Given the description of an element on the screen output the (x, y) to click on. 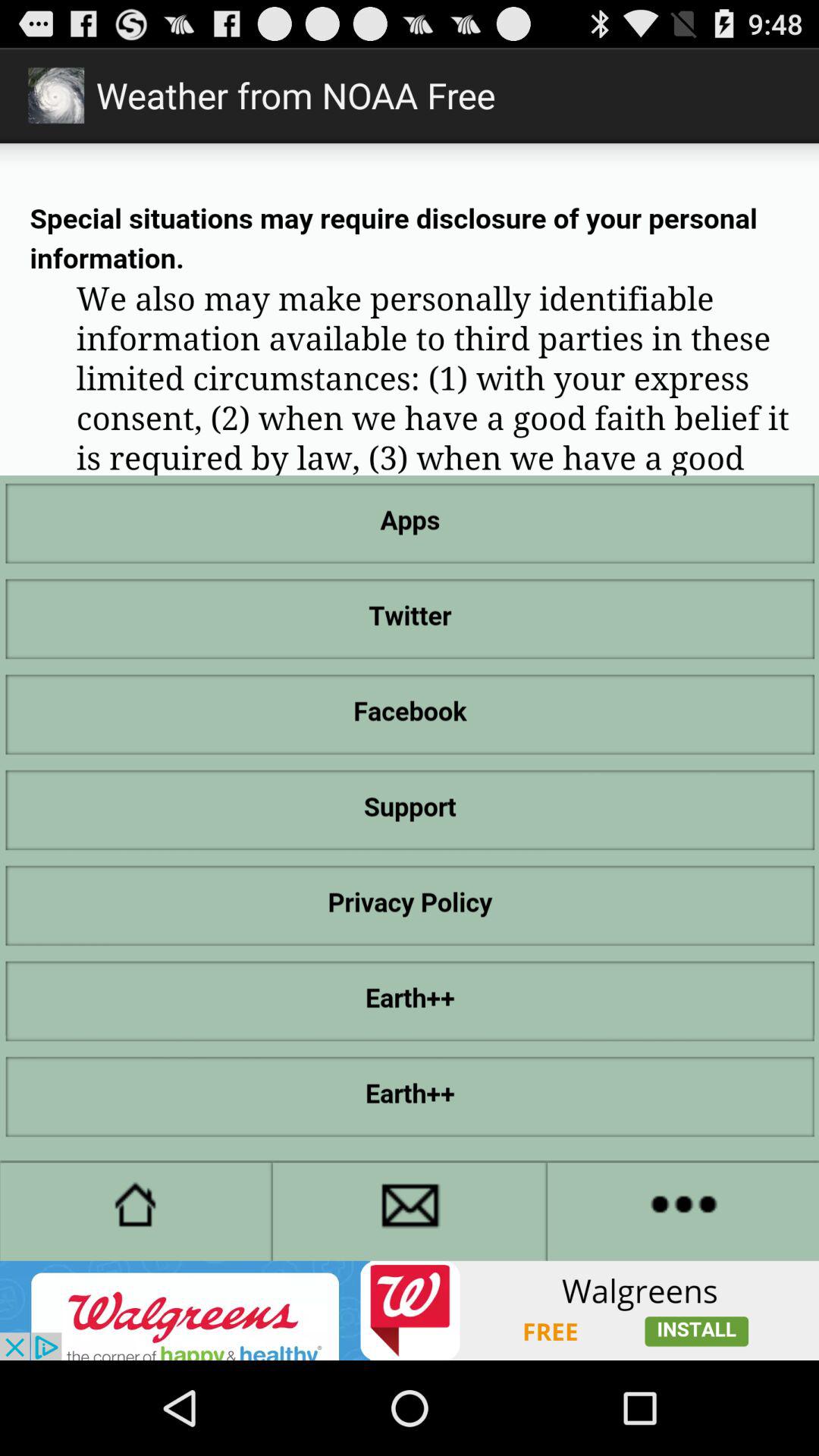
see an image (409, 1310)
